Given the description of an element on the screen output the (x, y) to click on. 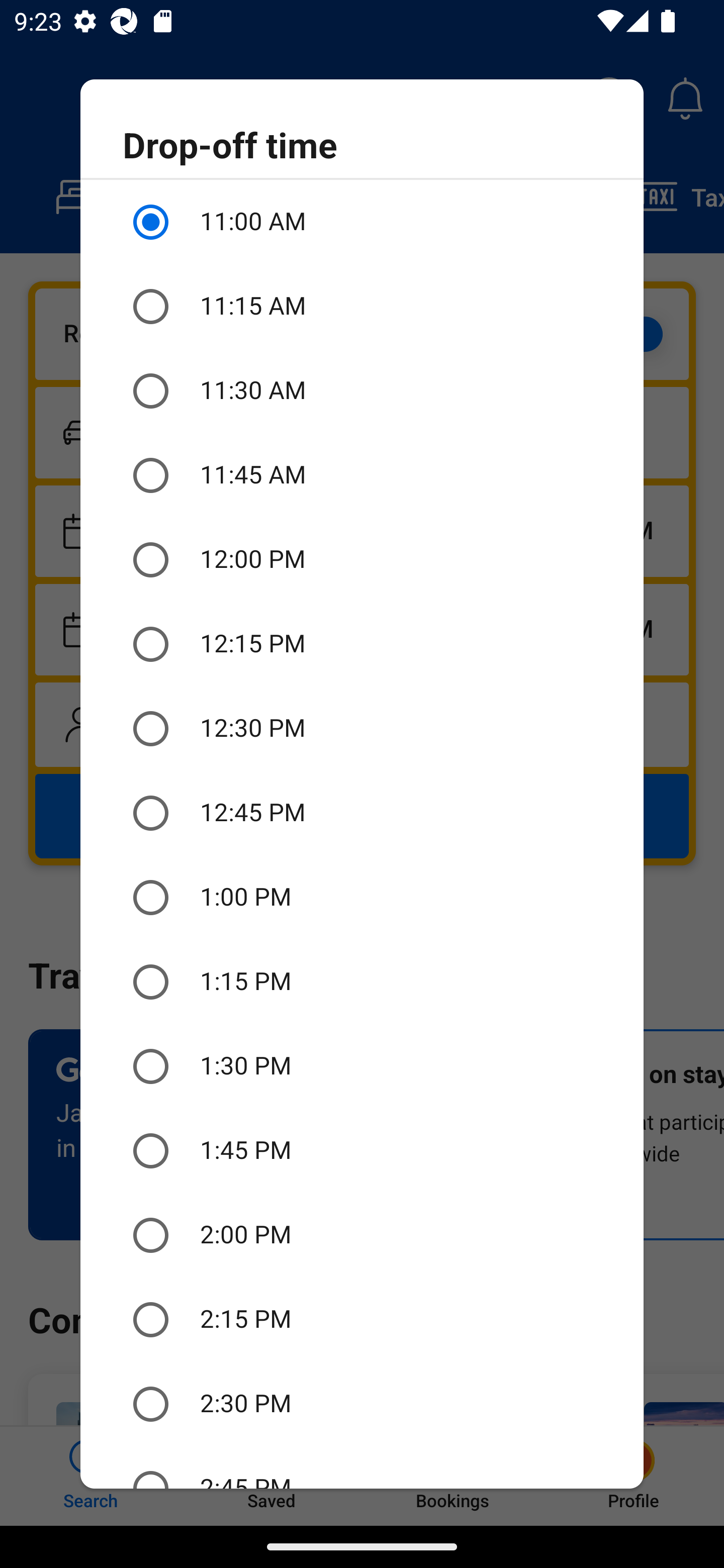
11:00 AM (361, 222)
11:15 AM (361, 306)
11:30 AM (361, 390)
11:45 AM (361, 474)
12:00 PM (361, 559)
12:15 PM (361, 644)
12:30 PM (361, 728)
12:45 PM (361, 813)
1:00 PM (361, 897)
1:15 PM (361, 981)
1:30 PM (361, 1065)
1:45 PM (361, 1150)
2:00 PM (361, 1235)
2:15 PM (361, 1319)
2:30 PM (361, 1403)
